Given the description of an element on the screen output the (x, y) to click on. 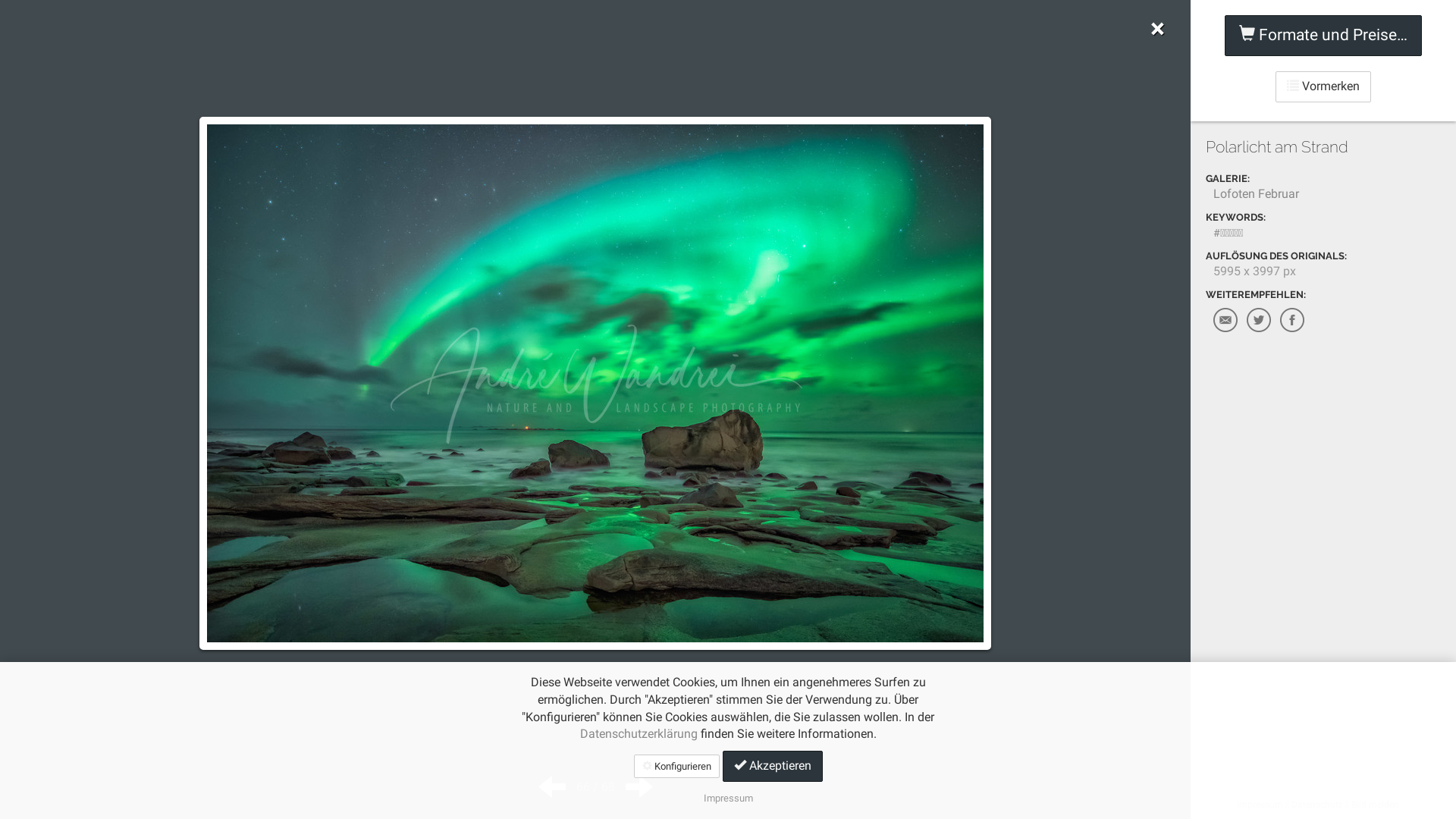
Konfigurieren Element type: text (676, 766)
Datenschutz Element type: text (1316, 804)
Lofoten Februar Element type: text (1256, 193)
Bild melden Element type: text (1375, 804)
Akzeptieren Element type: text (771, 765)
Impressum Element type: text (728, 797)
Vormerken Element type: text (1323, 86)
Impressum Element type: text (1259, 804)
